Given the description of an element on the screen output the (x, y) to click on. 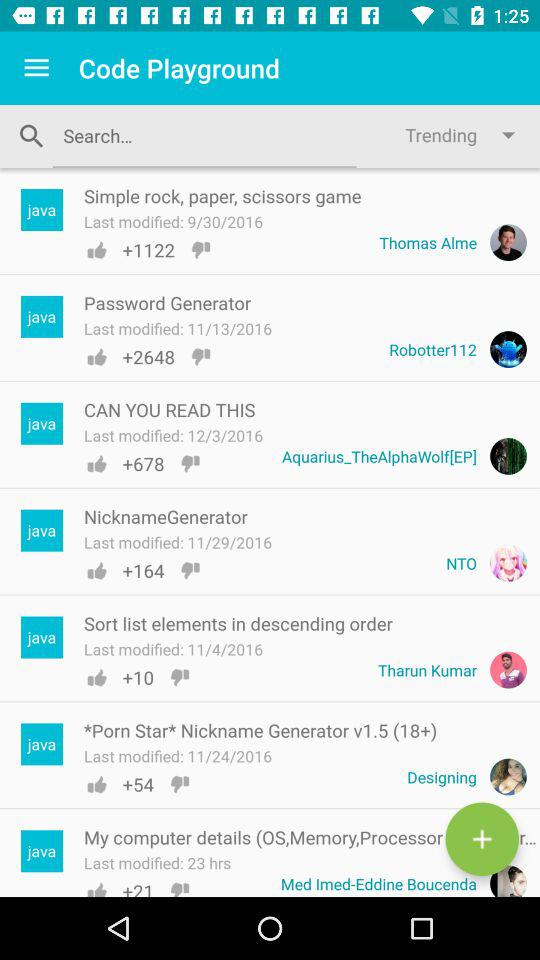
select the search (204, 135)
